Given the description of an element on the screen output the (x, y) to click on. 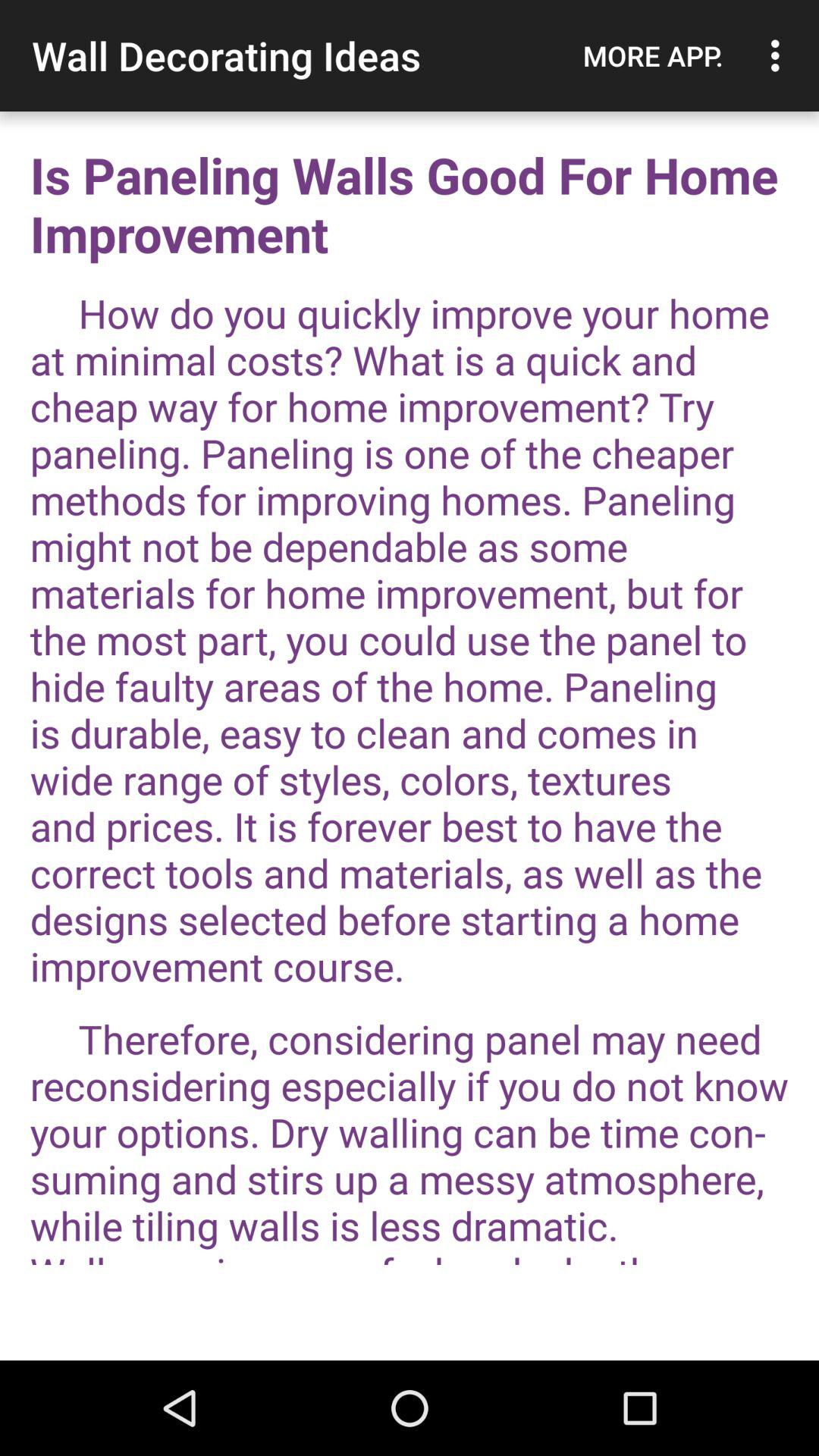
launch the item above is paneling walls app (653, 55)
